Given the description of an element on the screen output the (x, y) to click on. 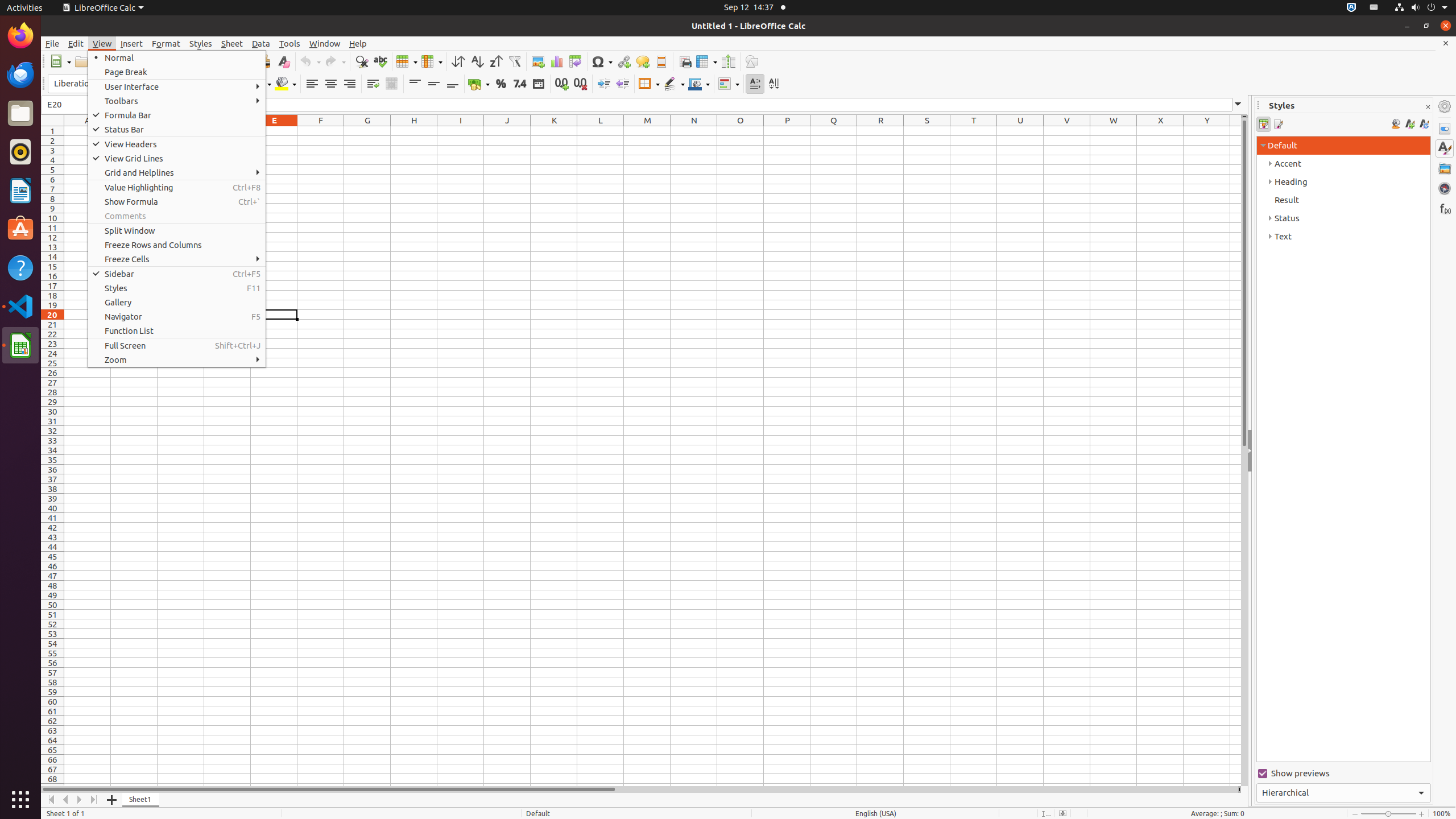
Move To End Element type: push-button (94, 799)
Help Element type: push-button (20, 267)
K1 Element type: table-cell (553, 130)
Page Break Element type: radio-menu-item (176, 71)
Split Window Element type: push-button (727, 61)
